Given the description of an element on the screen output the (x, y) to click on. 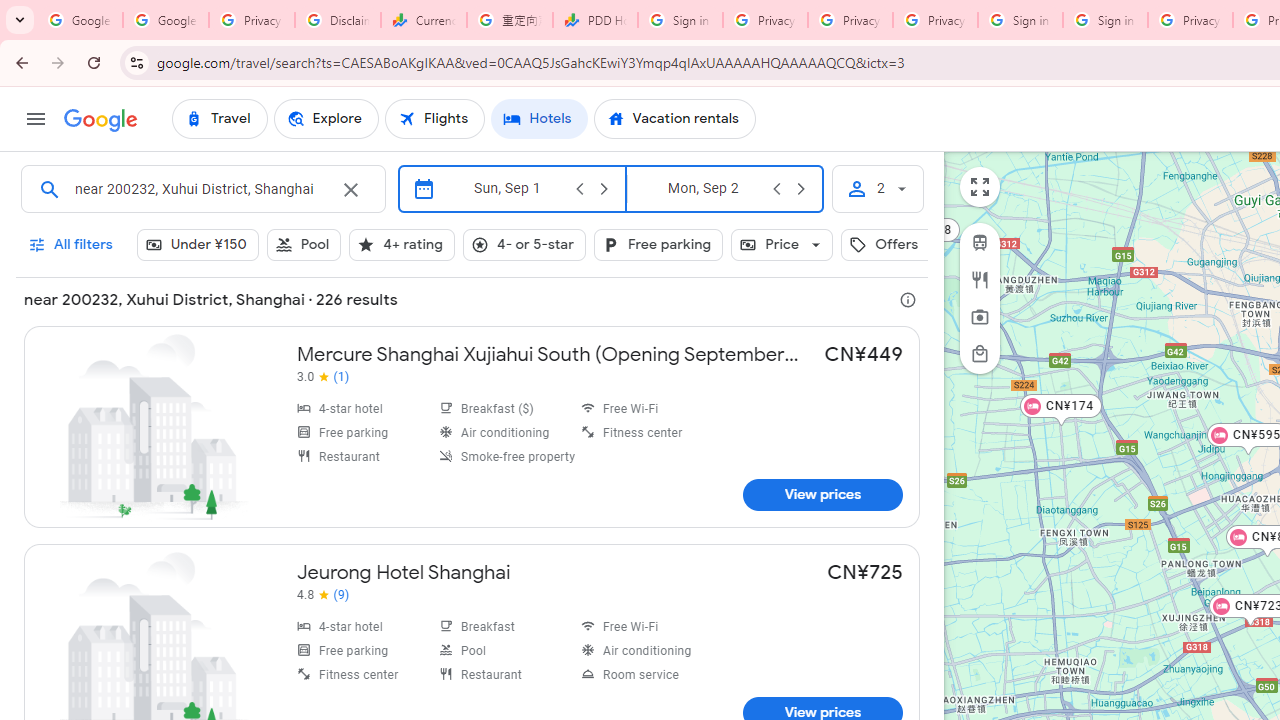
Travel (219, 118)
Vacation rentals (674, 118)
PDD Holdings Inc - ADR (PDD) Price & News - Google Finance (595, 20)
Learn more about these results (908, 299)
View larger map (979, 187)
Pool, Amenities, Not selected (303, 244)
